Given the description of an element on the screen output the (x, y) to click on. 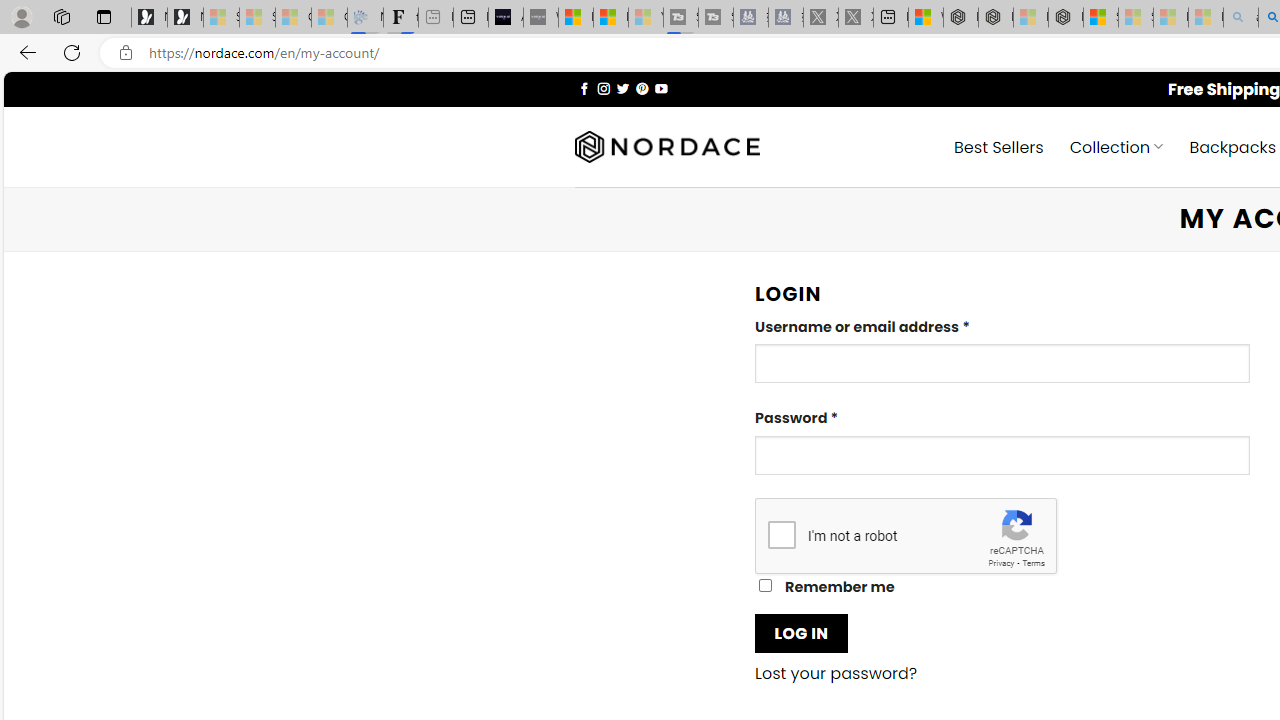
Nordace - Nordace Siena Is Not An Ordinary Backpack (1065, 17)
